Given the description of an element on the screen output the (x, y) to click on. 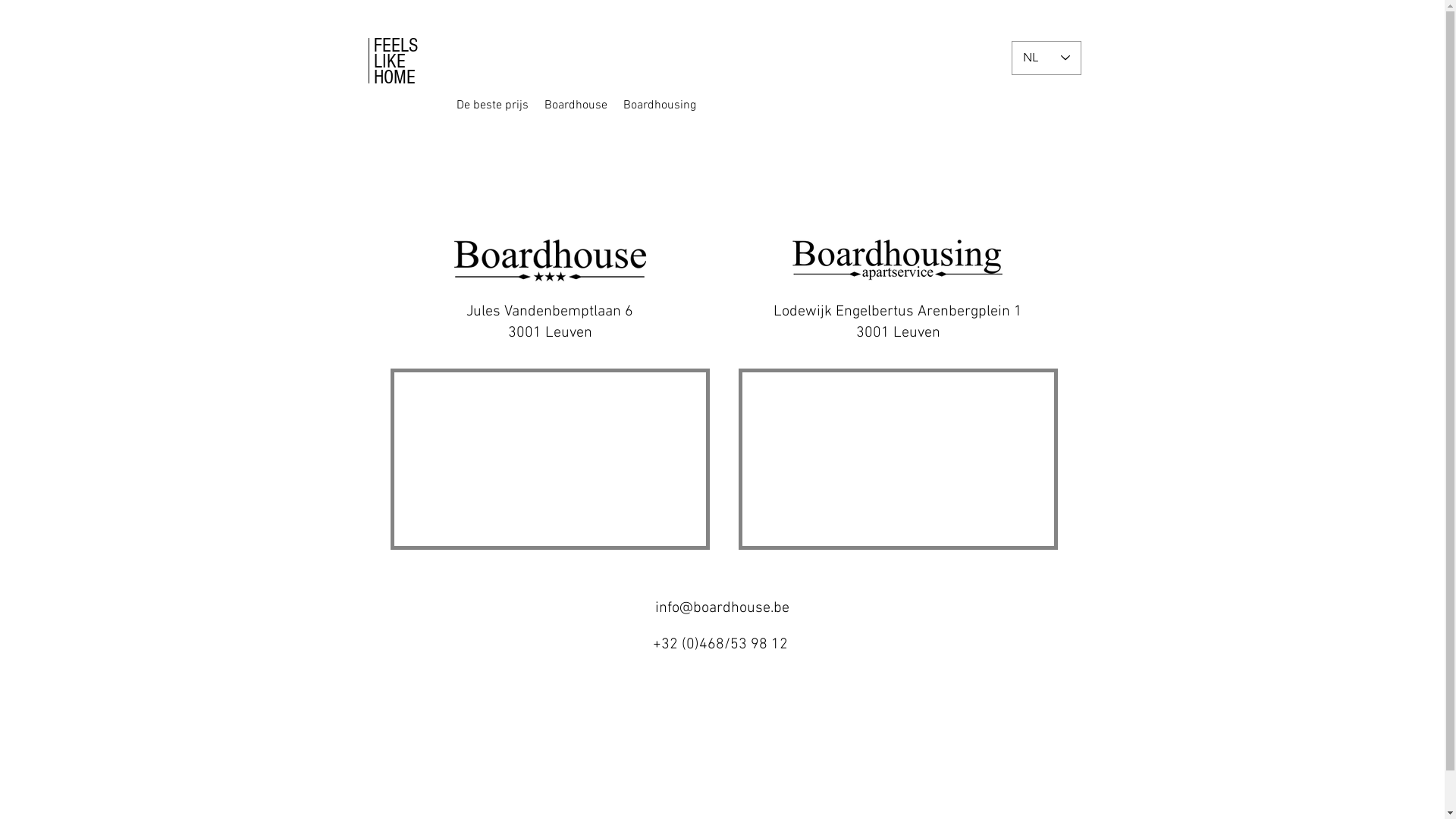
Boardhousing Element type: text (675, 105)
LIKE Element type: text (388, 61)
FEELS Element type: text (395, 45)
Google Maps Element type: hover (897, 458)
Google Maps Element type: hover (549, 458)
Contact Element type: text (758, 105)
HOME Element type: text (393, 76)
info@boardhouse.be Element type: text (722, 608)
Boardhouse Element type: text (575, 105)
De beste prijs Element type: text (491, 105)
Boardhousing Element type: text (658, 105)
